Given the description of an element on the screen output the (x, y) to click on. 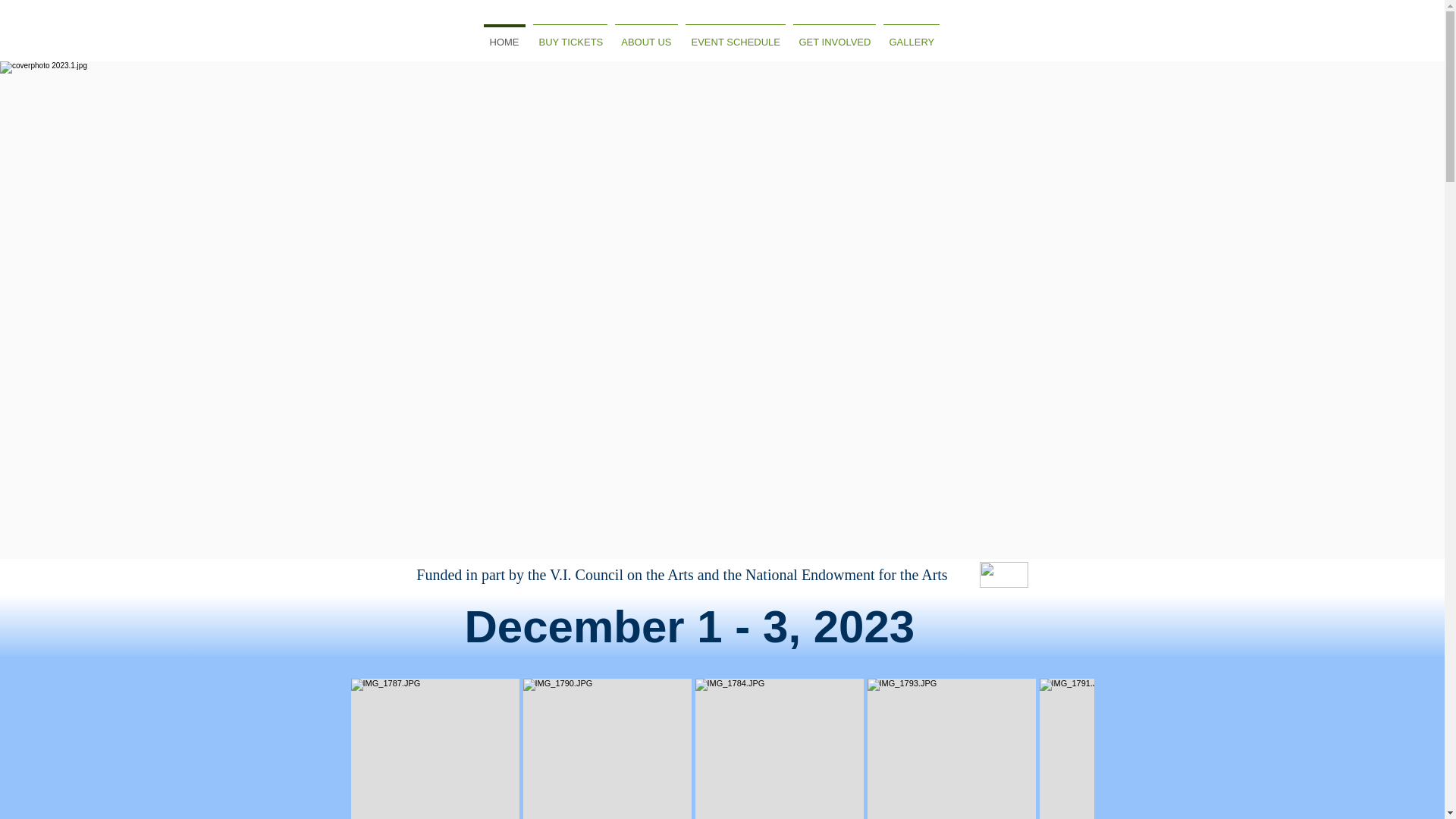
HOME (503, 35)
EVENT SCHEDULE (735, 35)
BUY TICKETS (570, 35)
GALLERY (911, 35)
